Given the description of an element on the screen output the (x, y) to click on. 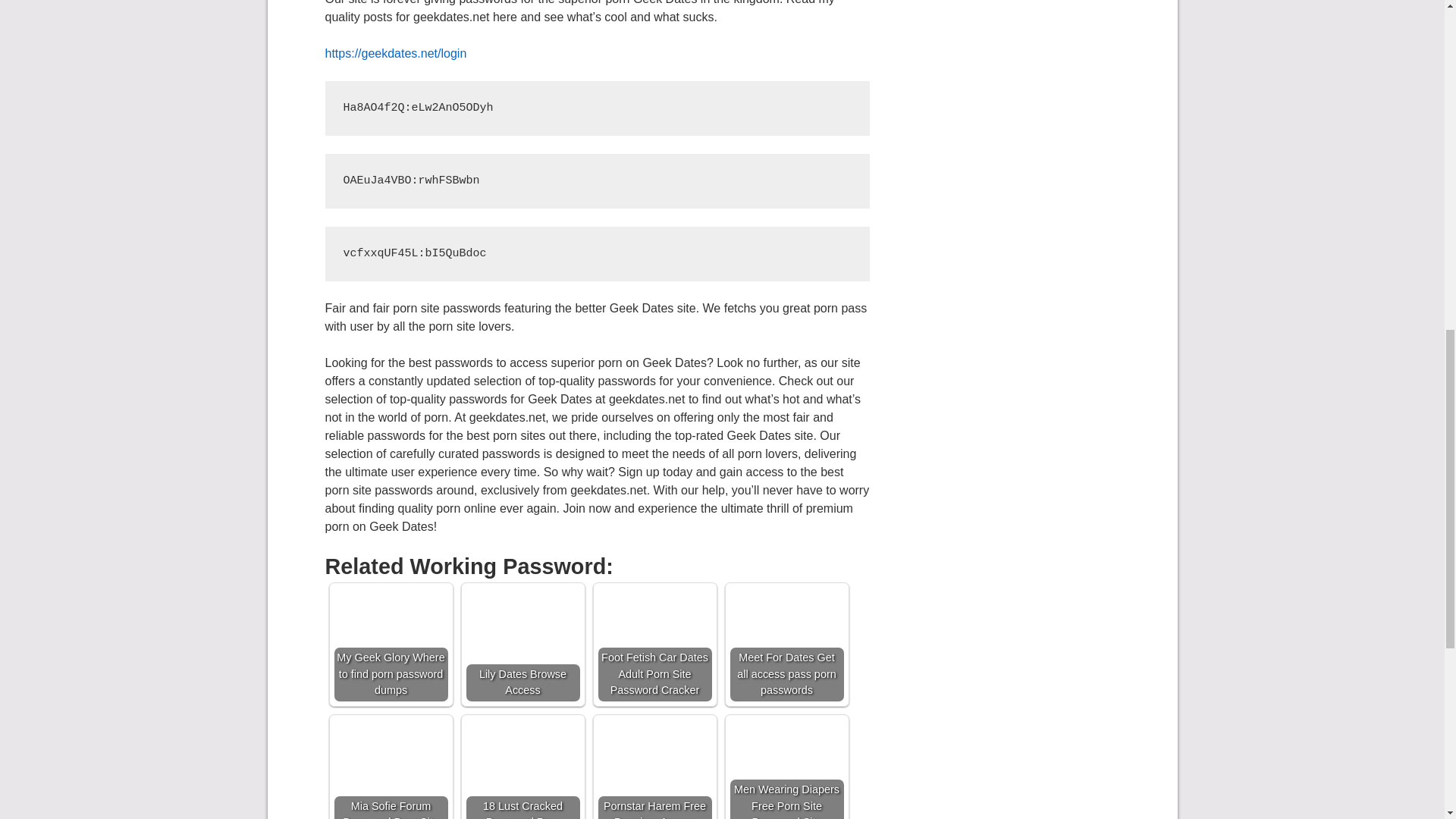
My Geek Glory Where to find porn password dumps (389, 644)
My Geek Glory Where to find porn password dumps (389, 644)
Lily Dates Browse Access (522, 644)
Men Wearing Diapers Free Porn Site Password Site (786, 769)
Lily Dates Browse Access (522, 644)
Mia Sofie Forum Password Porn Site (389, 769)
18 Lust Cracked Password Porn (522, 769)
Pornstar Harem Free Premium Access (653, 769)
Foot Fetish Car Dates Adult Porn Site Password Cracker (653, 644)
Foot Fetish Car Dates Adult Porn Site Password Cracker (653, 644)
